Given the description of an element on the screen output the (x, y) to click on. 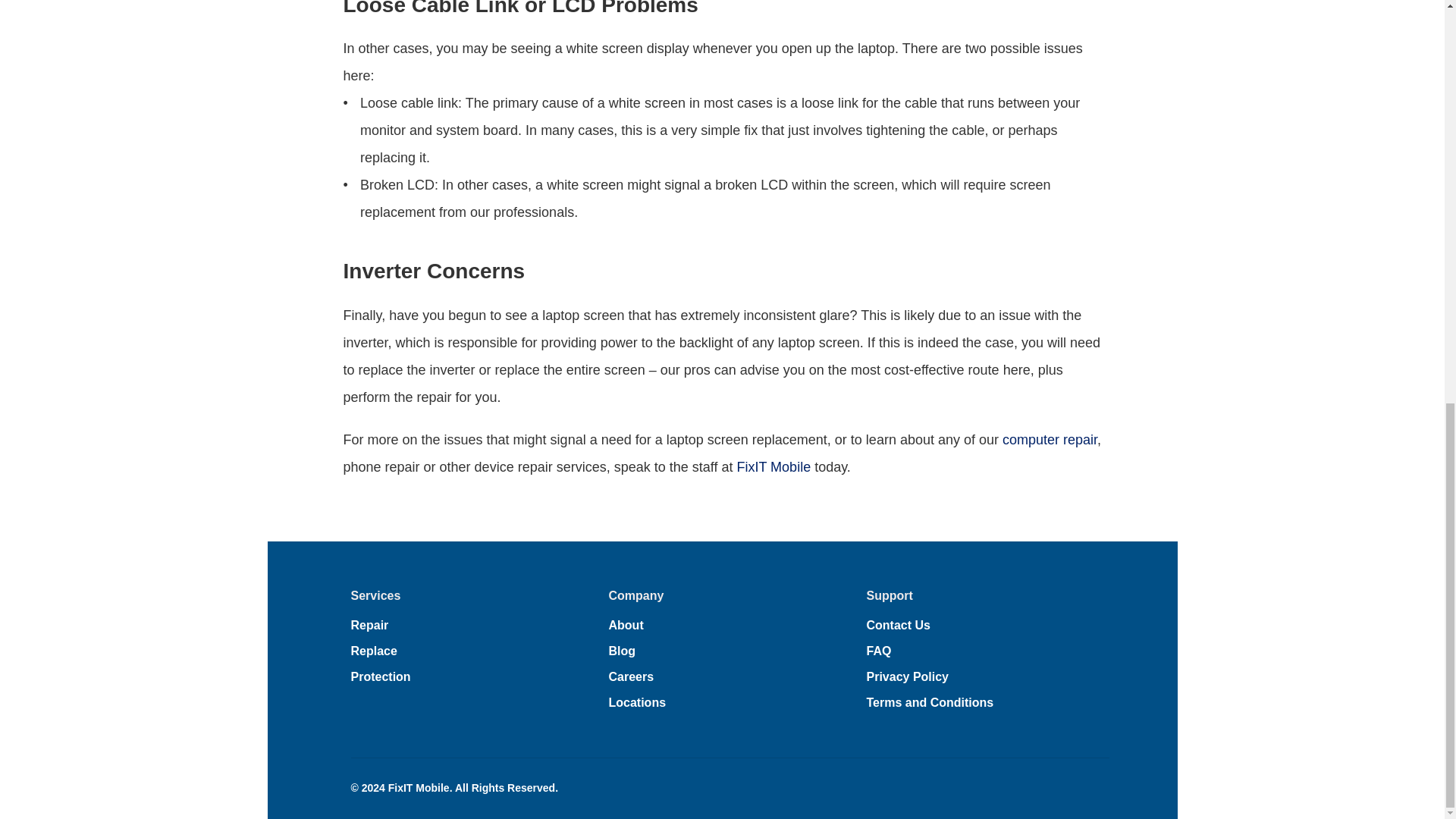
Replace (373, 650)
Blog (621, 650)
Protection (380, 676)
Terms and Conditions (929, 702)
About (625, 625)
Repair (369, 625)
Privacy Policy (907, 676)
FixIT Mobile (773, 467)
FAQ (878, 650)
Locations (636, 702)
Contact Us (898, 625)
Careers (630, 676)
computer repair (1050, 439)
